Given the description of an element on the screen output the (x, y) to click on. 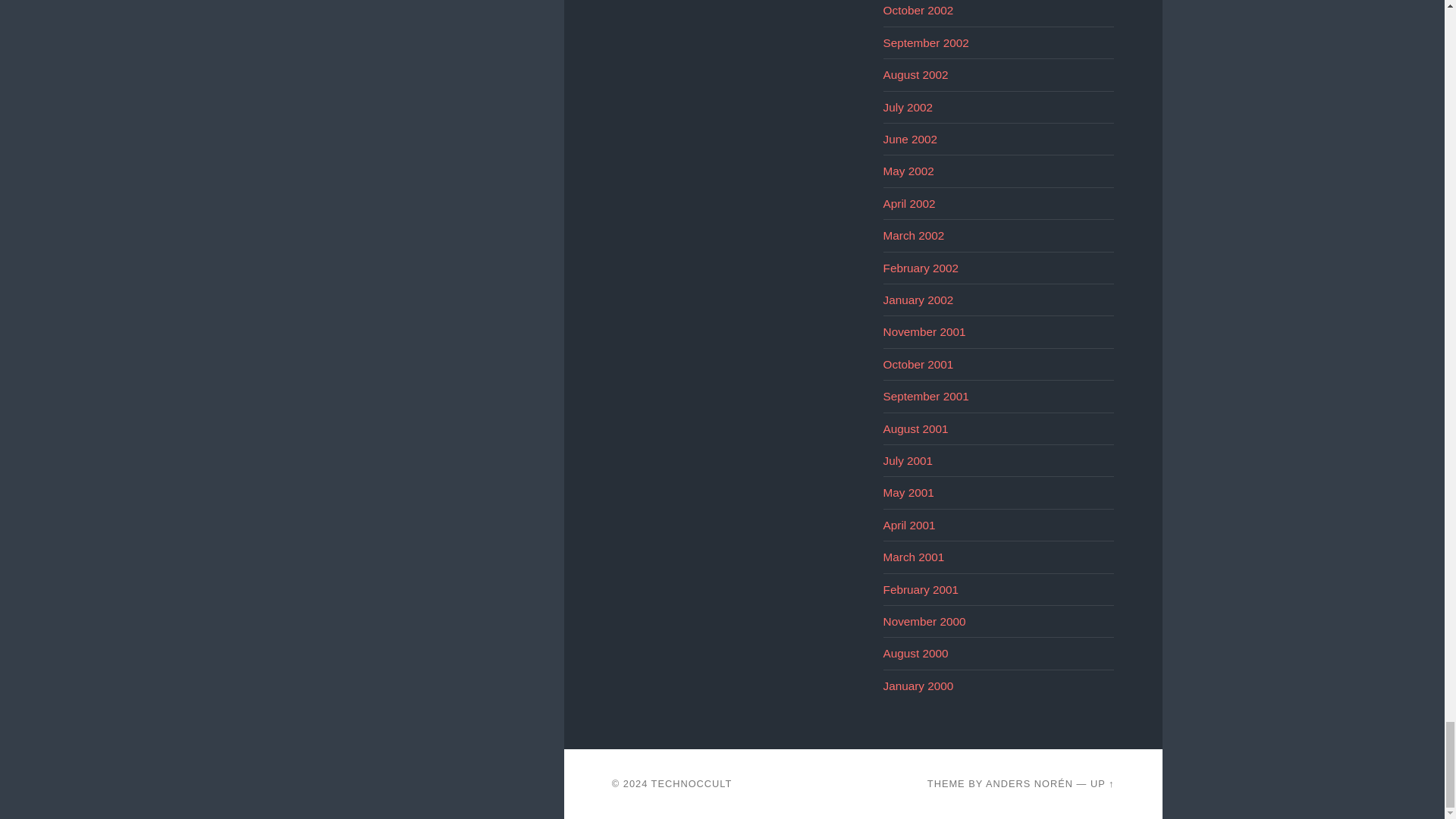
Technoccult (691, 783)
To the top (1102, 783)
